Given the description of an element on the screen output the (x, y) to click on. 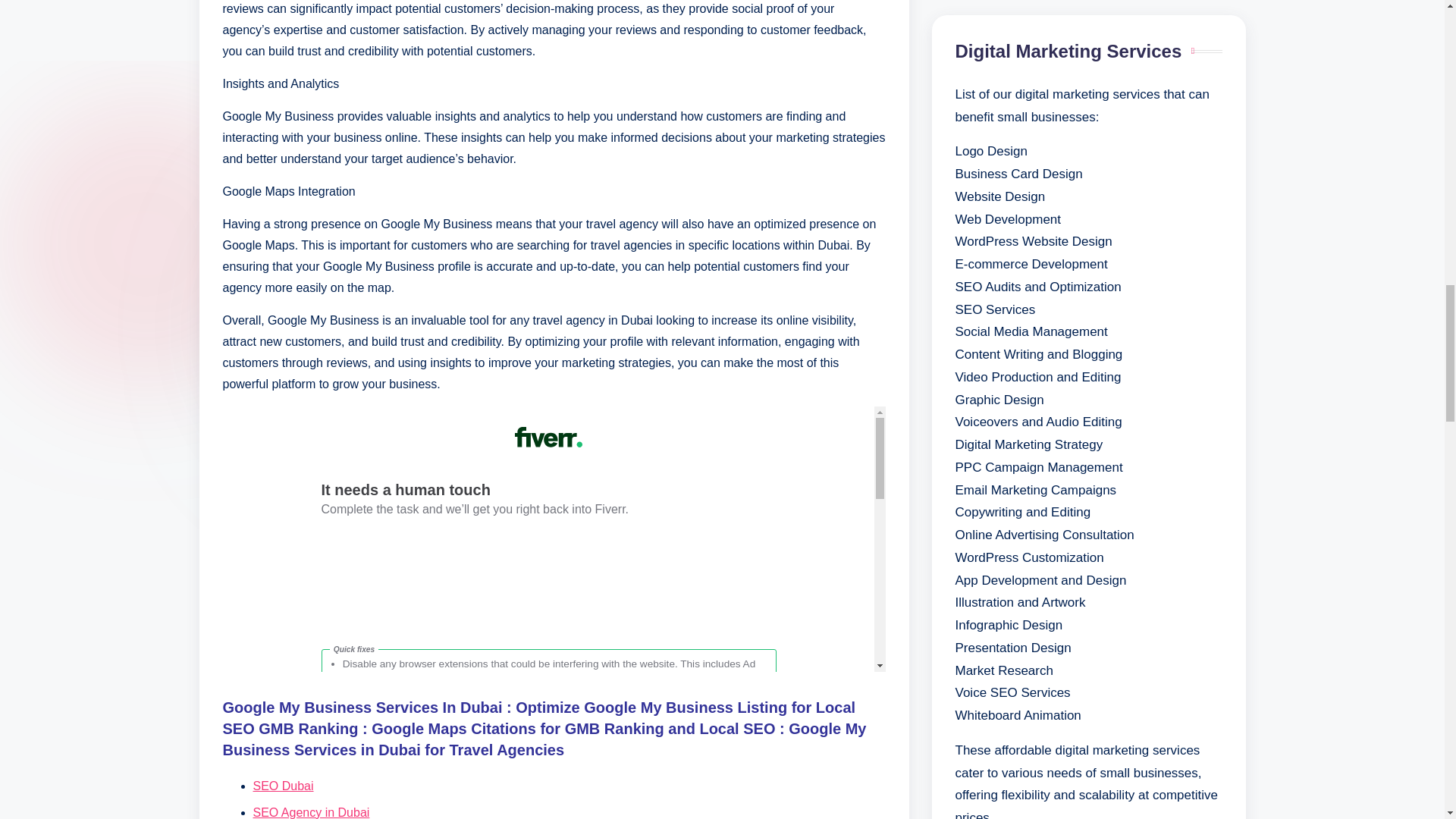
SEO Dubai (283, 785)
SEO Agency in Dubai (311, 812)
